Given the description of an element on the screen output the (x, y) to click on. 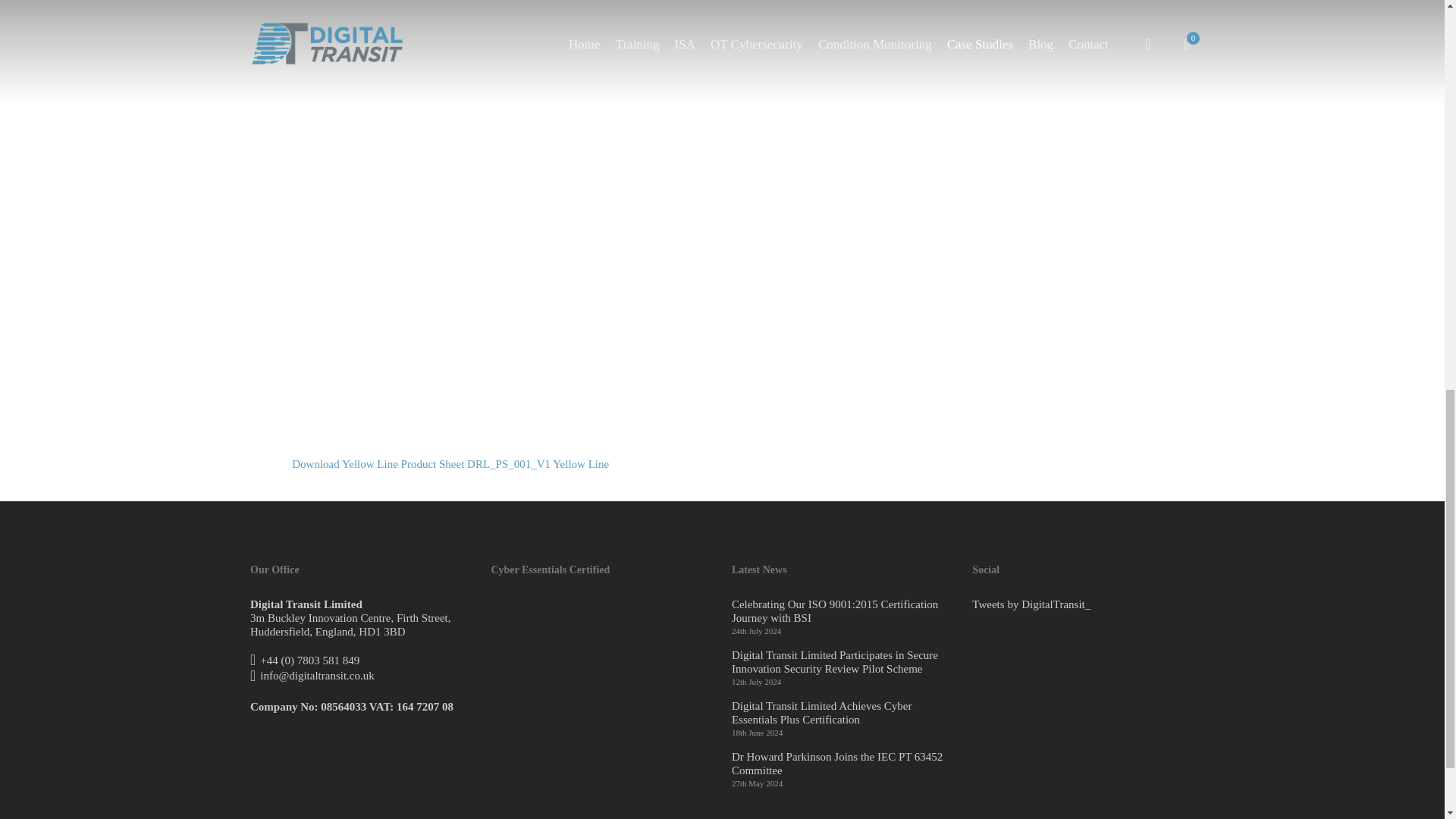
Dr Howard Parkinson Joins the IEC PT 63452 Committee (842, 763)
Celebrating Our ISO 9001:2015 Certification Journey with BSI (842, 610)
